Given the description of an element on the screen output the (x, y) to click on. 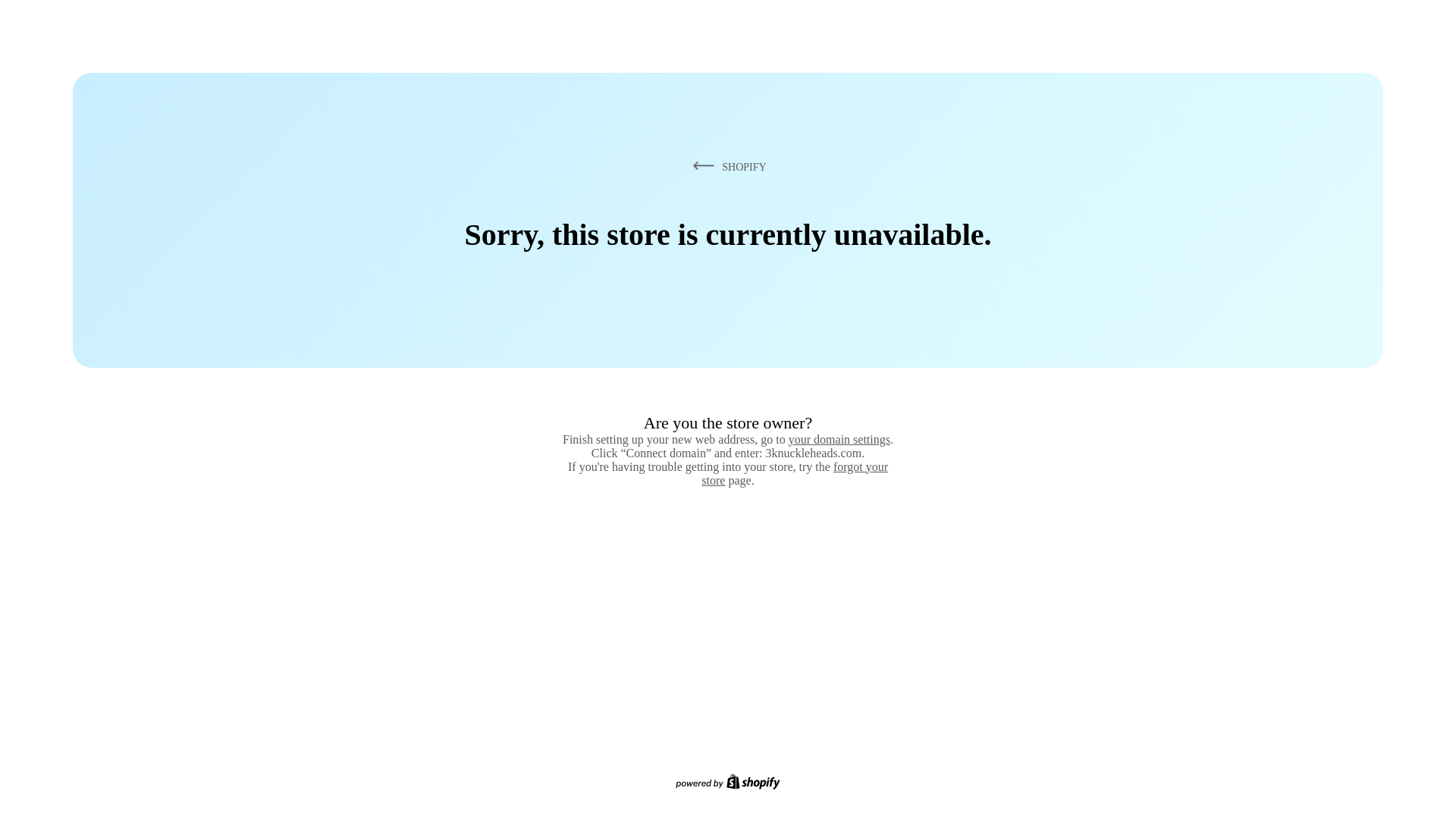
forgot your store Element type: text (794, 473)
your domain settings Element type: text (839, 439)
SHOPIFY Element type: text (727, 166)
